Given the description of an element on the screen output the (x, y) to click on. 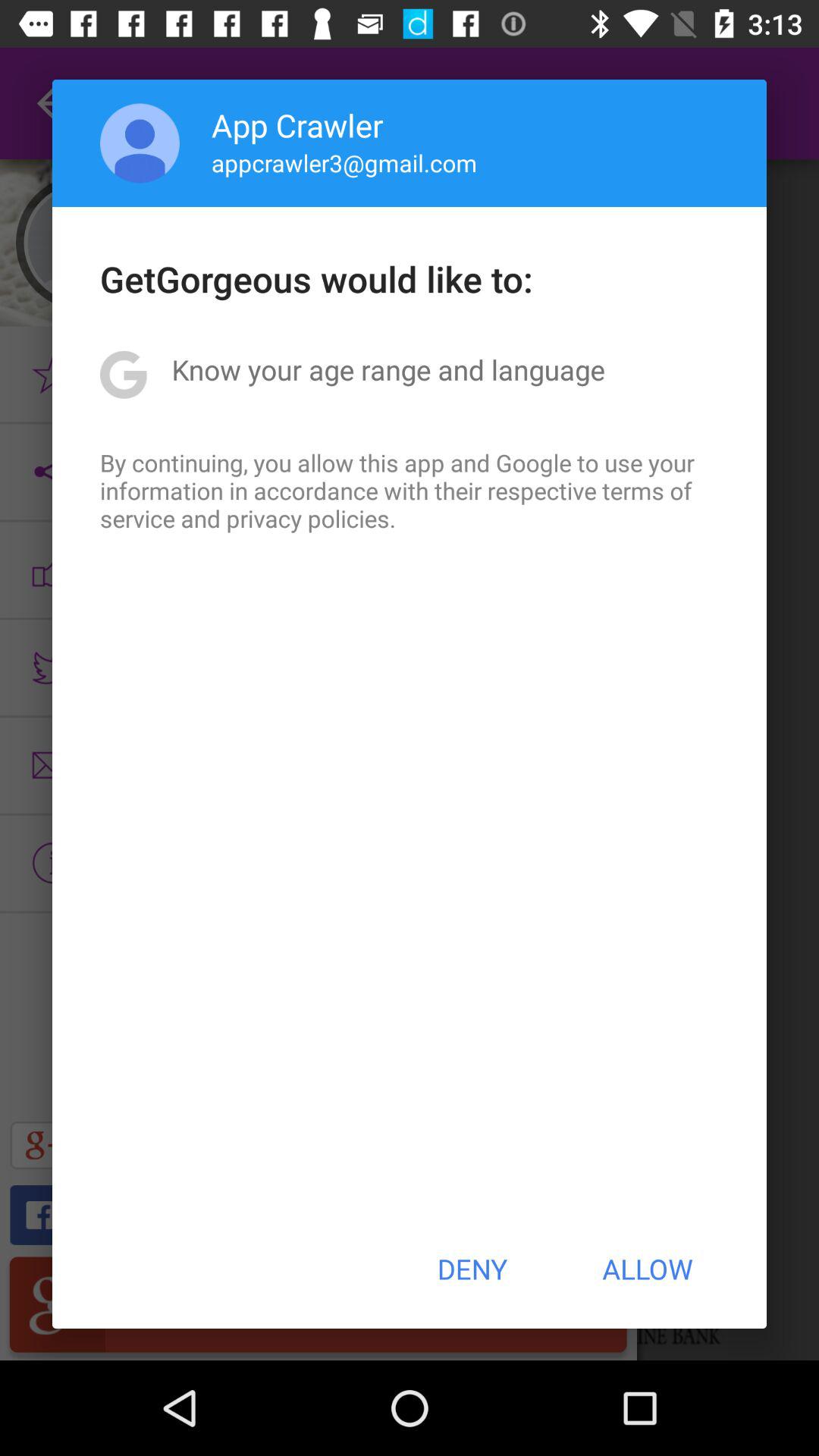
launch the icon below app crawler icon (344, 162)
